Given the description of an element on the screen output the (x, y) to click on. 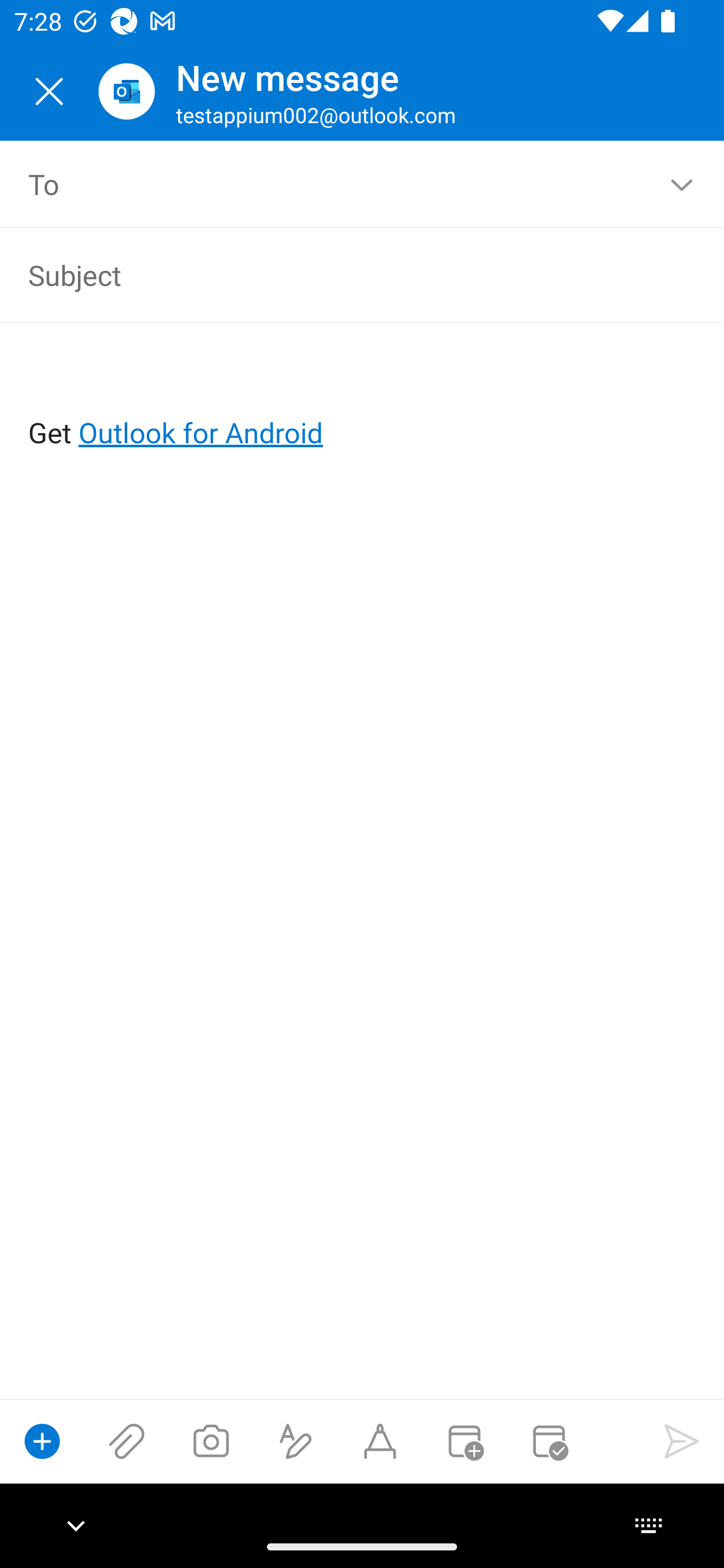
Close (49, 91)
Subject (333, 274)
Show compose options (42, 1440)
Attach files (126, 1440)
Take a photo (210, 1440)
Show formatting options (295, 1440)
Start Ink compose (380, 1440)
Convert to event (464, 1440)
Send availability (548, 1440)
Send (681, 1440)
